Given the description of an element on the screen output the (x, y) to click on. 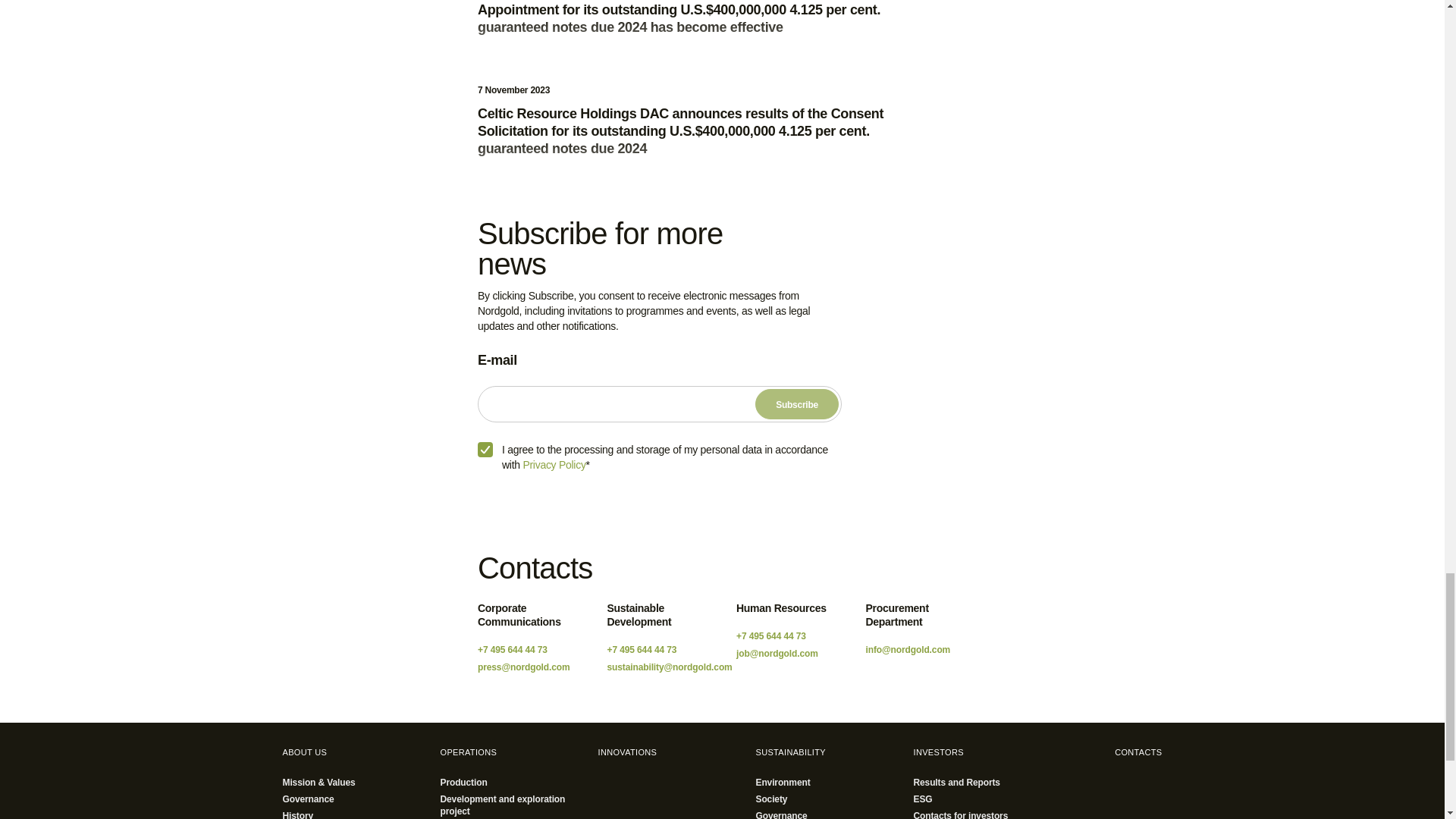
Subscribe (796, 404)
